Given the description of an element on the screen output the (x, y) to click on. 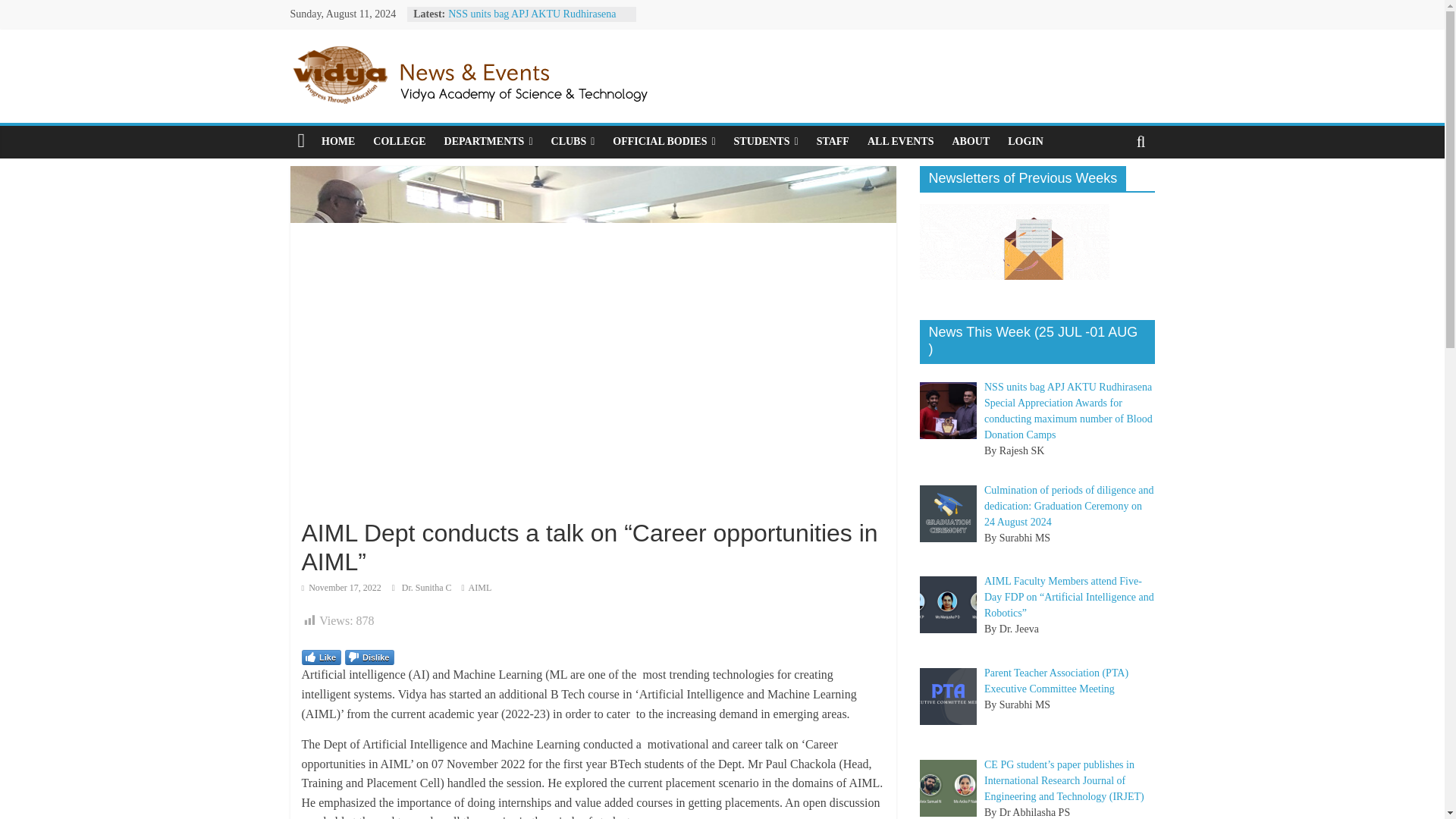
CLUBS (572, 142)
Dr. Sunitha C (427, 587)
COLLEGE (398, 142)
HOME (338, 142)
DEPARTMENTS (488, 142)
9:30 PM (341, 587)
